Given the description of an element on the screen output the (x, y) to click on. 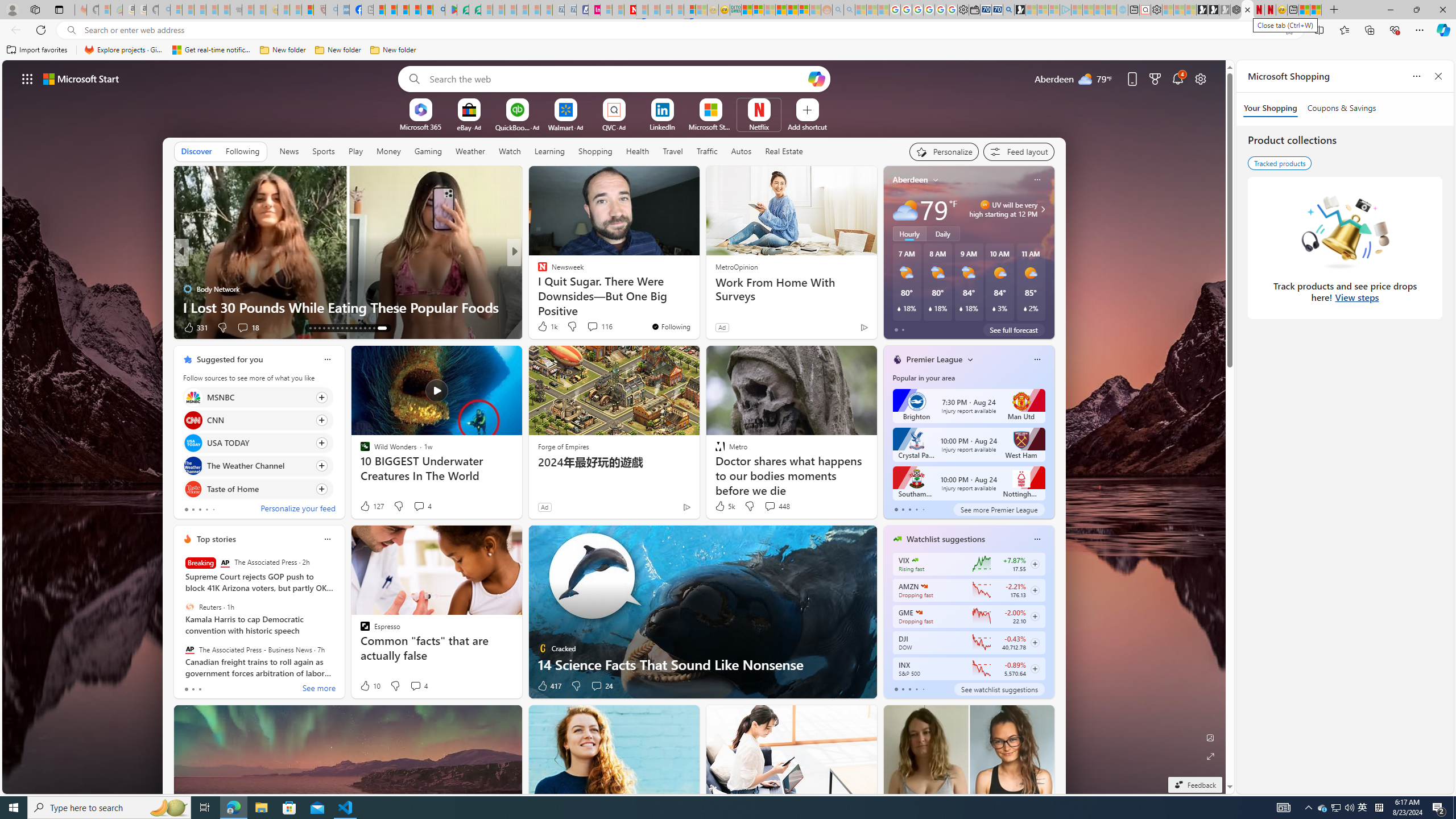
UV will be very high starting at 12 PM (1040, 208)
My location (936, 179)
Page settings (1200, 78)
Watchlist suggestions (945, 538)
AutomationID: tab-42 (381, 328)
tab-0 (895, 689)
AutomationID: tab-15 (319, 328)
